Given the description of an element on the screen output the (x, y) to click on. 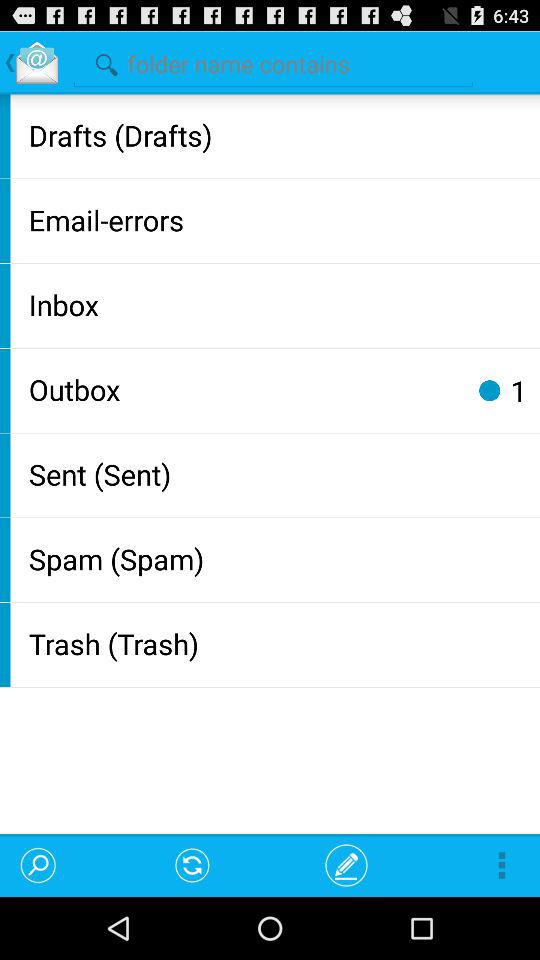
type in search terms (273, 61)
